Given the description of an element on the screen output the (x, y) to click on. 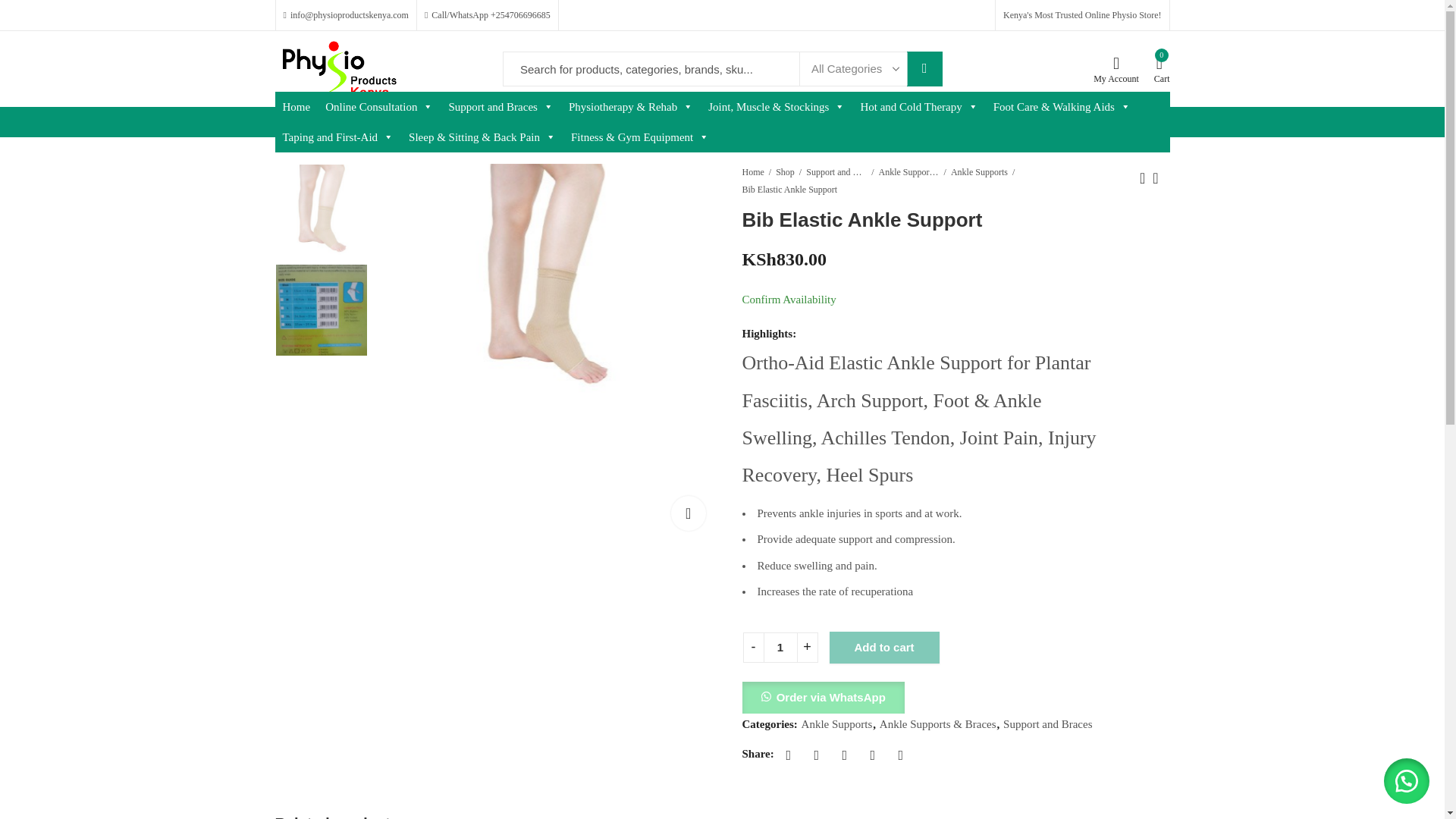
1 (779, 647)
19 (545, 278)
Search (924, 68)
Online Consultation (379, 106)
Support and Braces (500, 106)
Qty (779, 647)
My Account (1115, 69)
Home (296, 106)
